Given the description of an element on the screen output the (x, y) to click on. 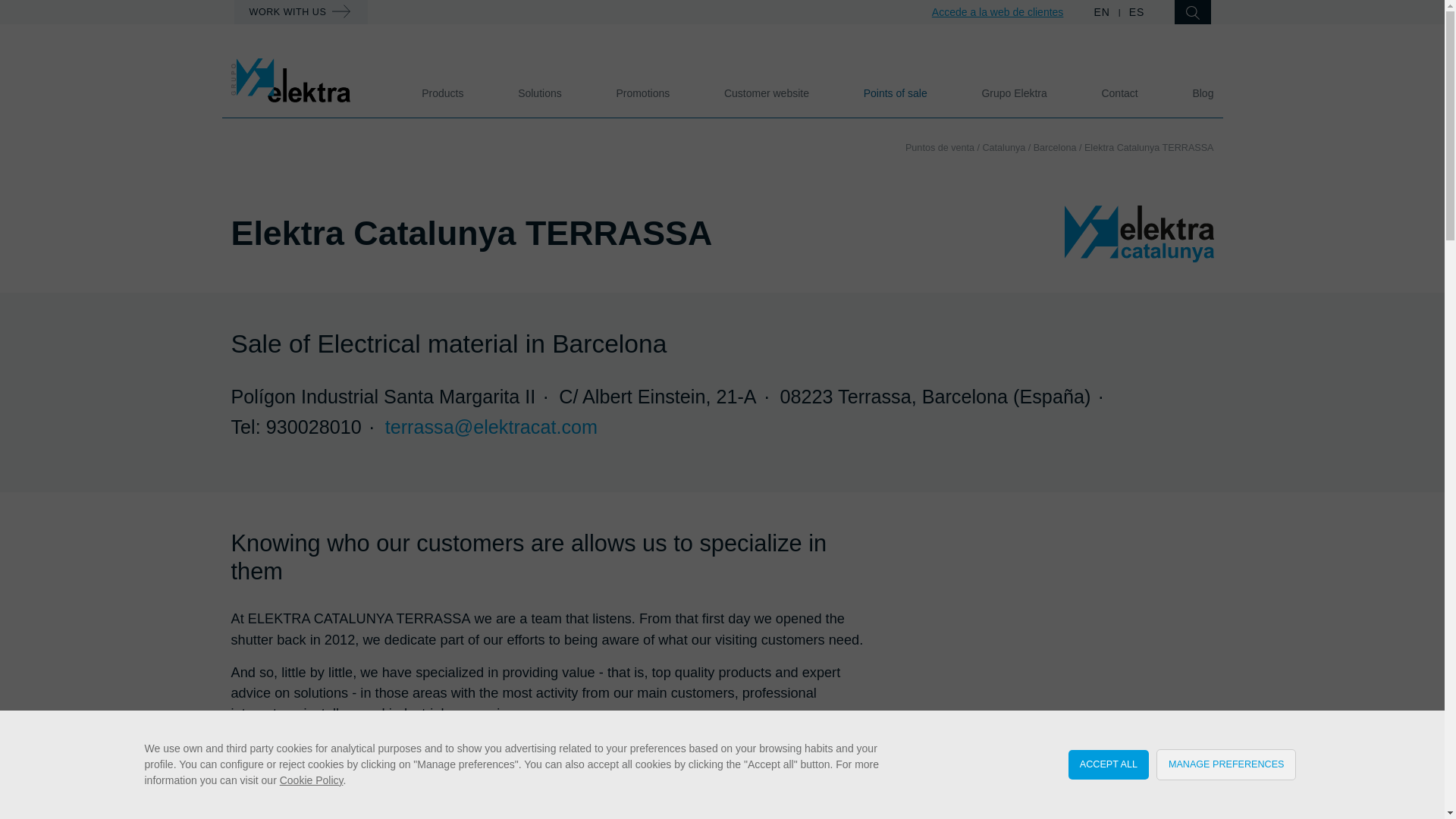
Catalunya (1004, 147)
Grupo Elektra (1013, 93)
Barcelona (1055, 147)
Points of sale (895, 93)
ES (1136, 11)
Contact (1118, 93)
WORK WITH US (300, 12)
Customer website (766, 93)
Products (442, 93)
Puntos de venta (939, 147)
Solutions (540, 93)
Blog (1202, 93)
Promotions (642, 93)
Accede a la web de clientes (997, 11)
EN (1103, 11)
